Given the description of an element on the screen output the (x, y) to click on. 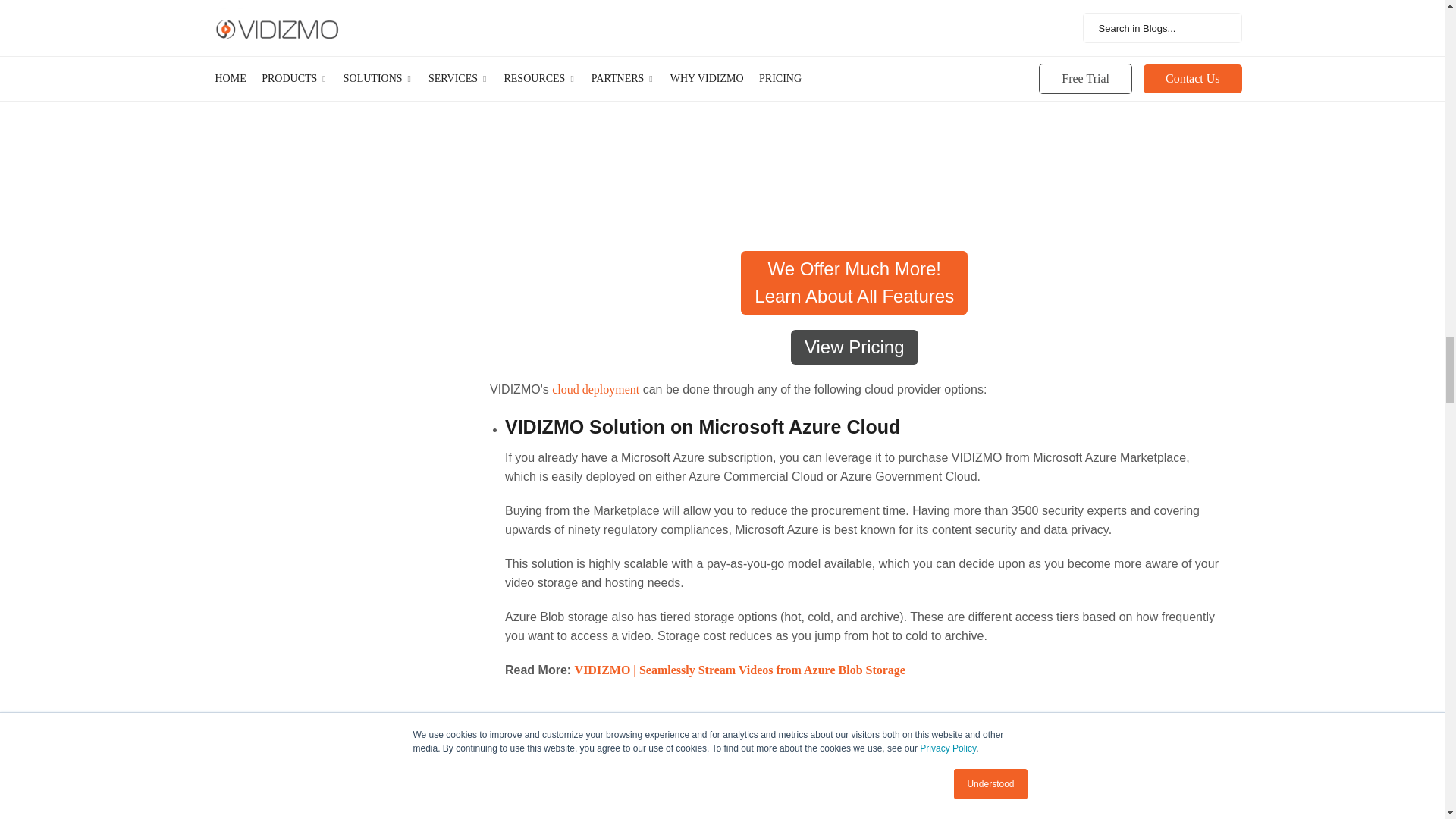
We Offer Much More!  Learn About All Features (854, 282)
View Pricing (854, 347)
